Given the description of an element on the screen output the (x, y) to click on. 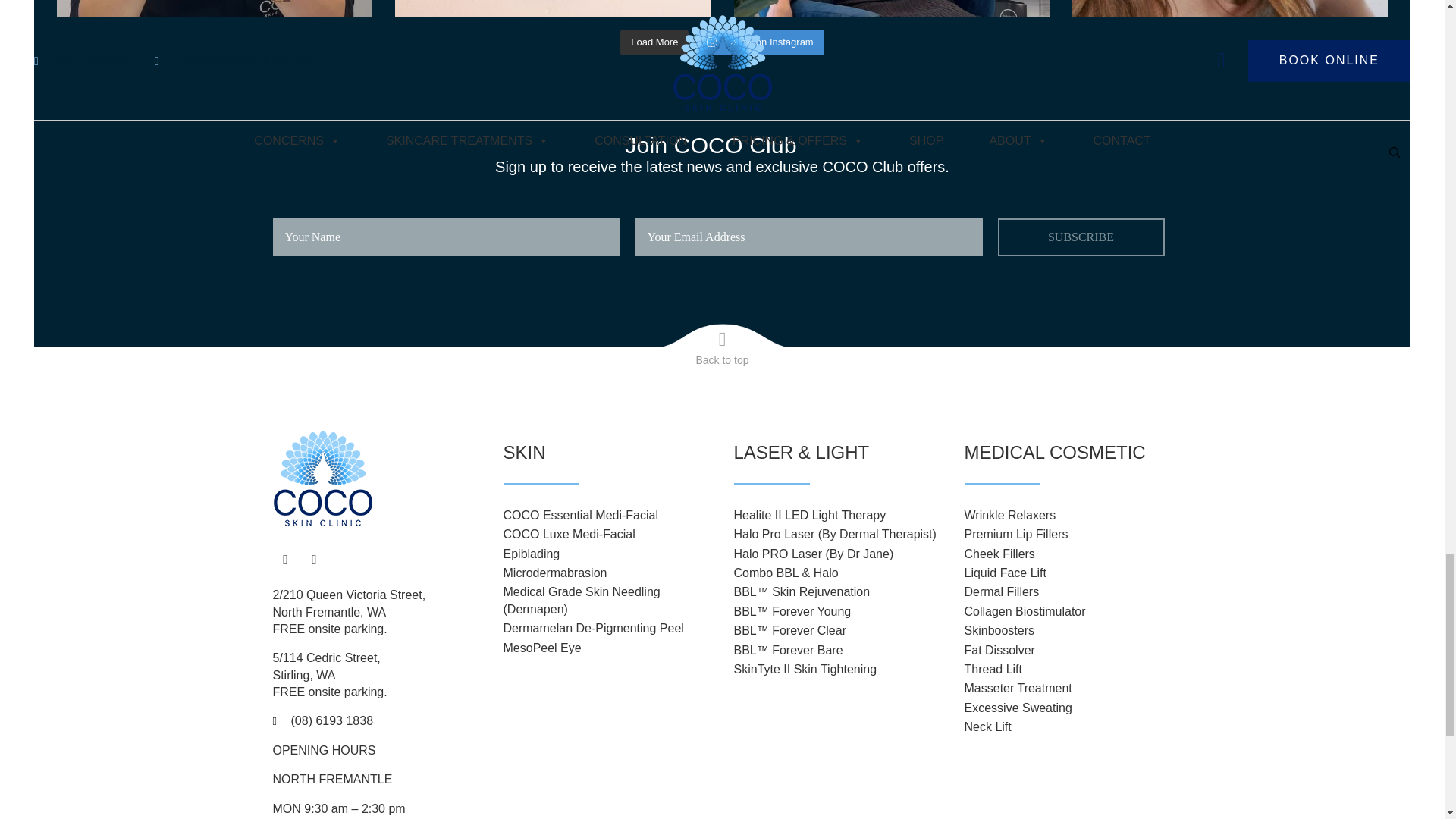
Subscribe (1080, 237)
Facebook (285, 558)
Back to top (721, 346)
Instagram (314, 558)
